Given the description of an element on the screen output the (x, y) to click on. 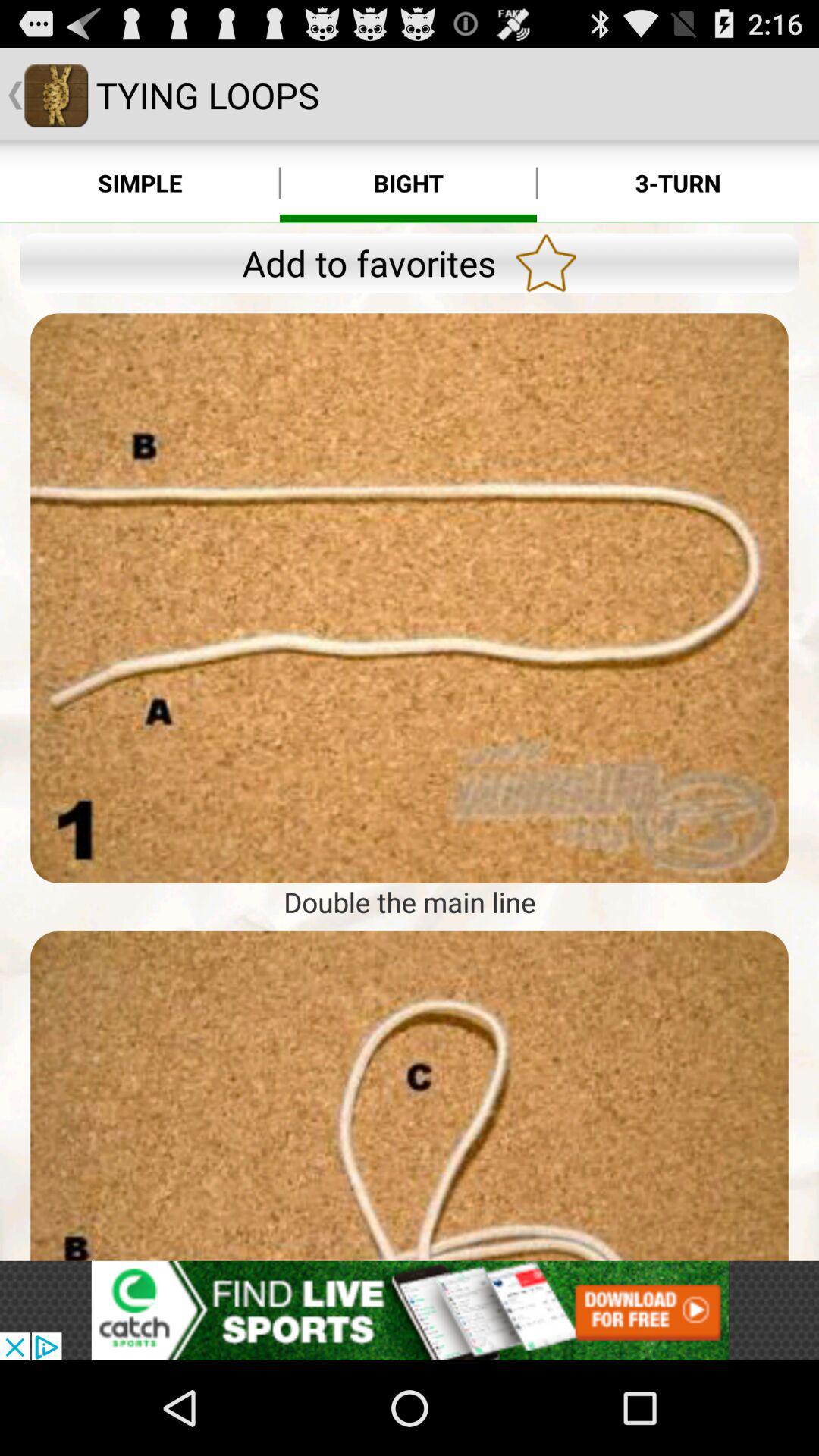
select image (409, 598)
